Given the description of an element on the screen output the (x, y) to click on. 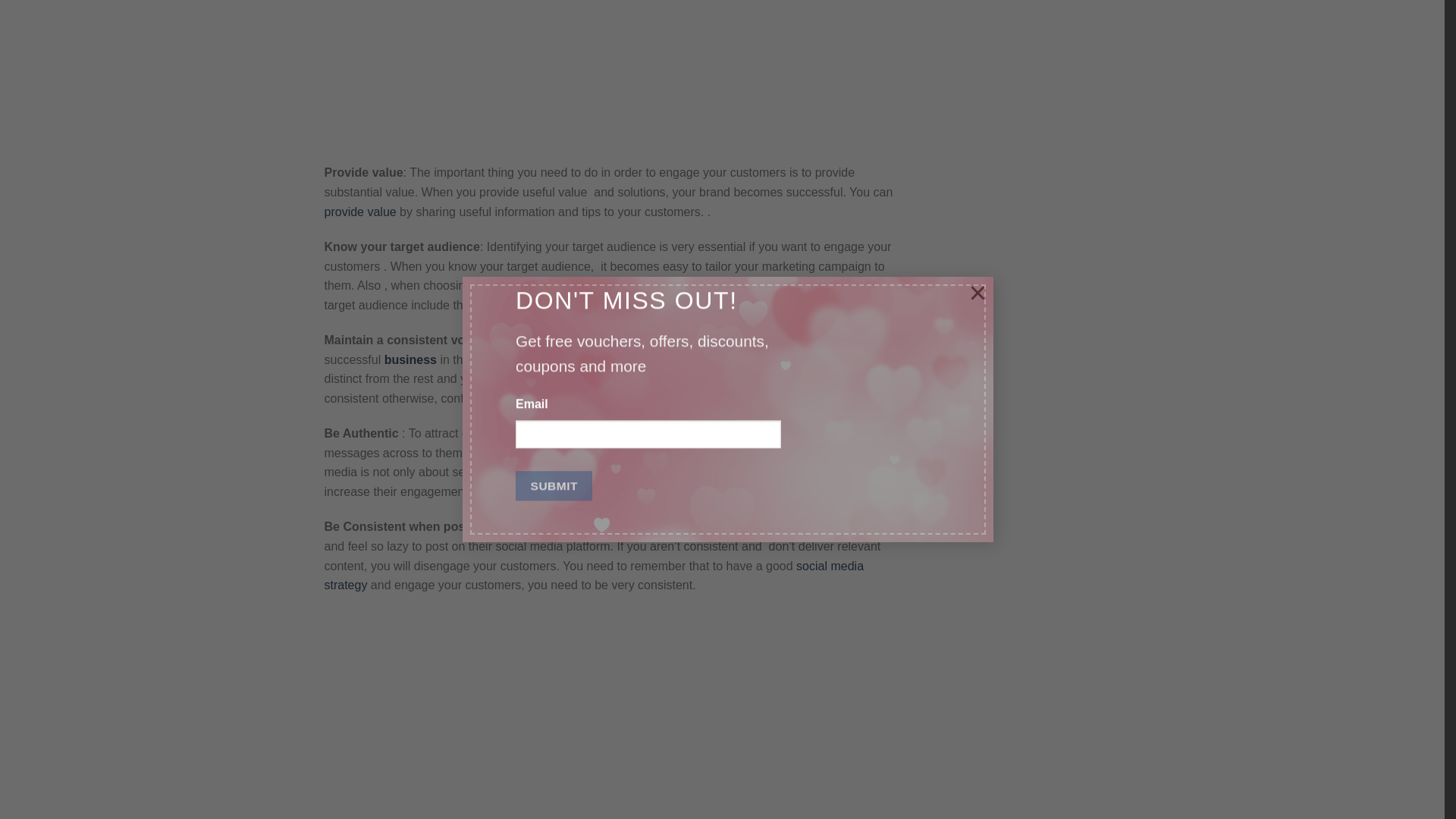
CWW.com.ng (504, 74)
